Given the description of an element on the screen output the (x, y) to click on. 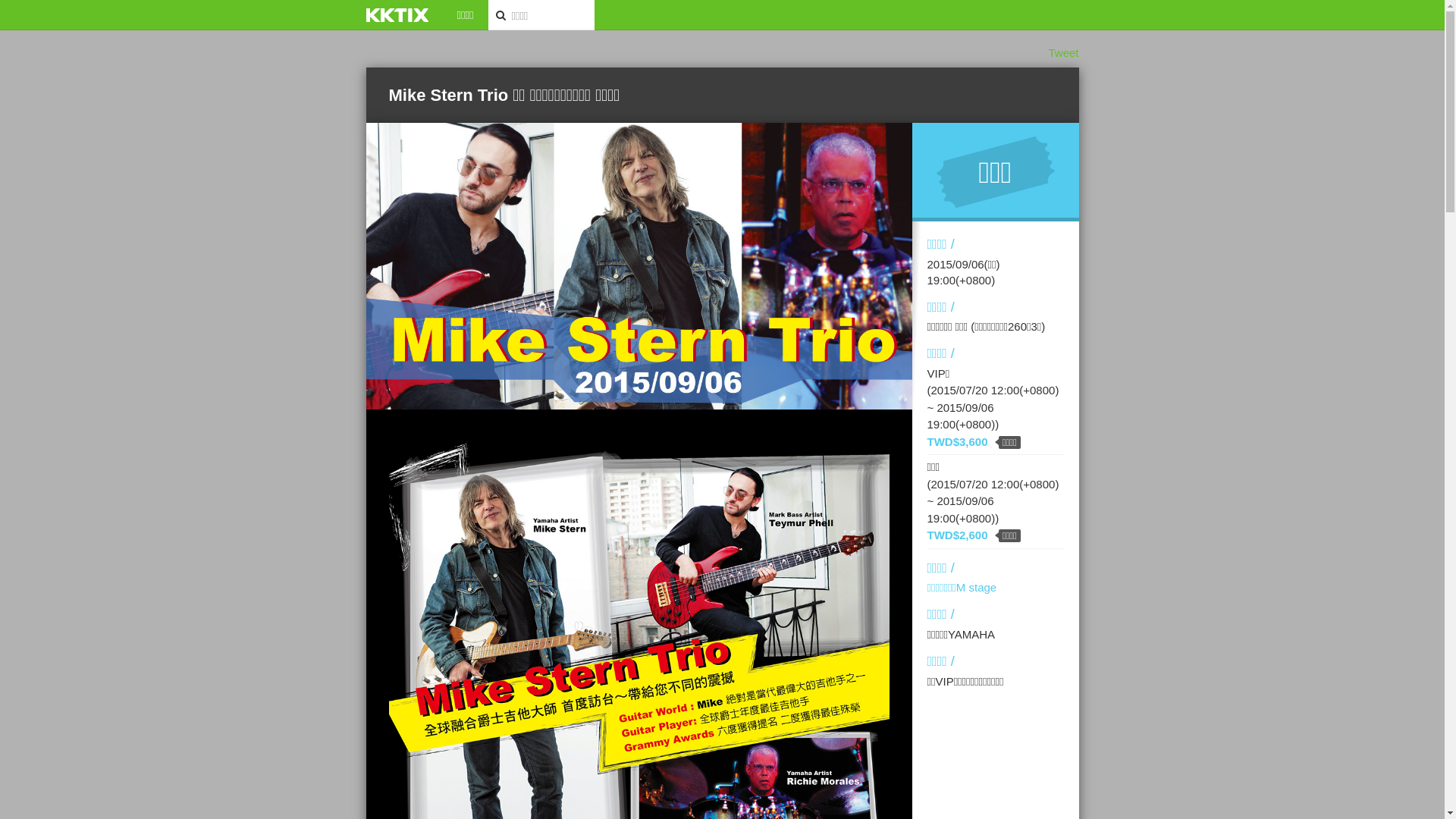
Tweet Element type: text (1063, 52)
KKTIX Element type: text (396, 14)
